Given the description of an element on the screen output the (x, y) to click on. 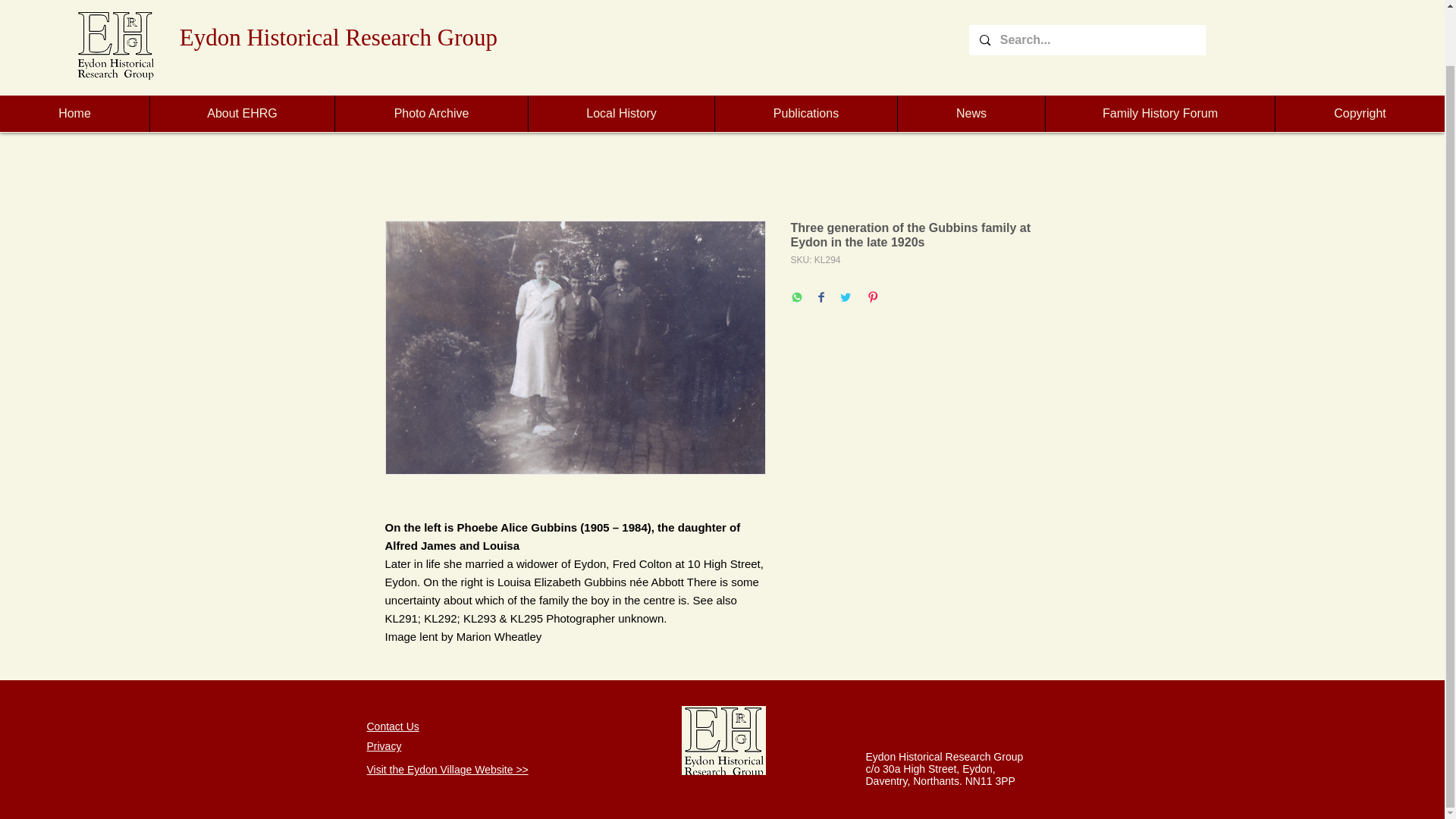
Local History (620, 54)
Home (74, 54)
News (970, 54)
Publications (805, 54)
Photo Archive (430, 54)
Contact Us (392, 726)
About EHRG (241, 54)
Family History Forum (1160, 54)
Privacy (383, 746)
